Given the description of an element on the screen output the (x, y) to click on. 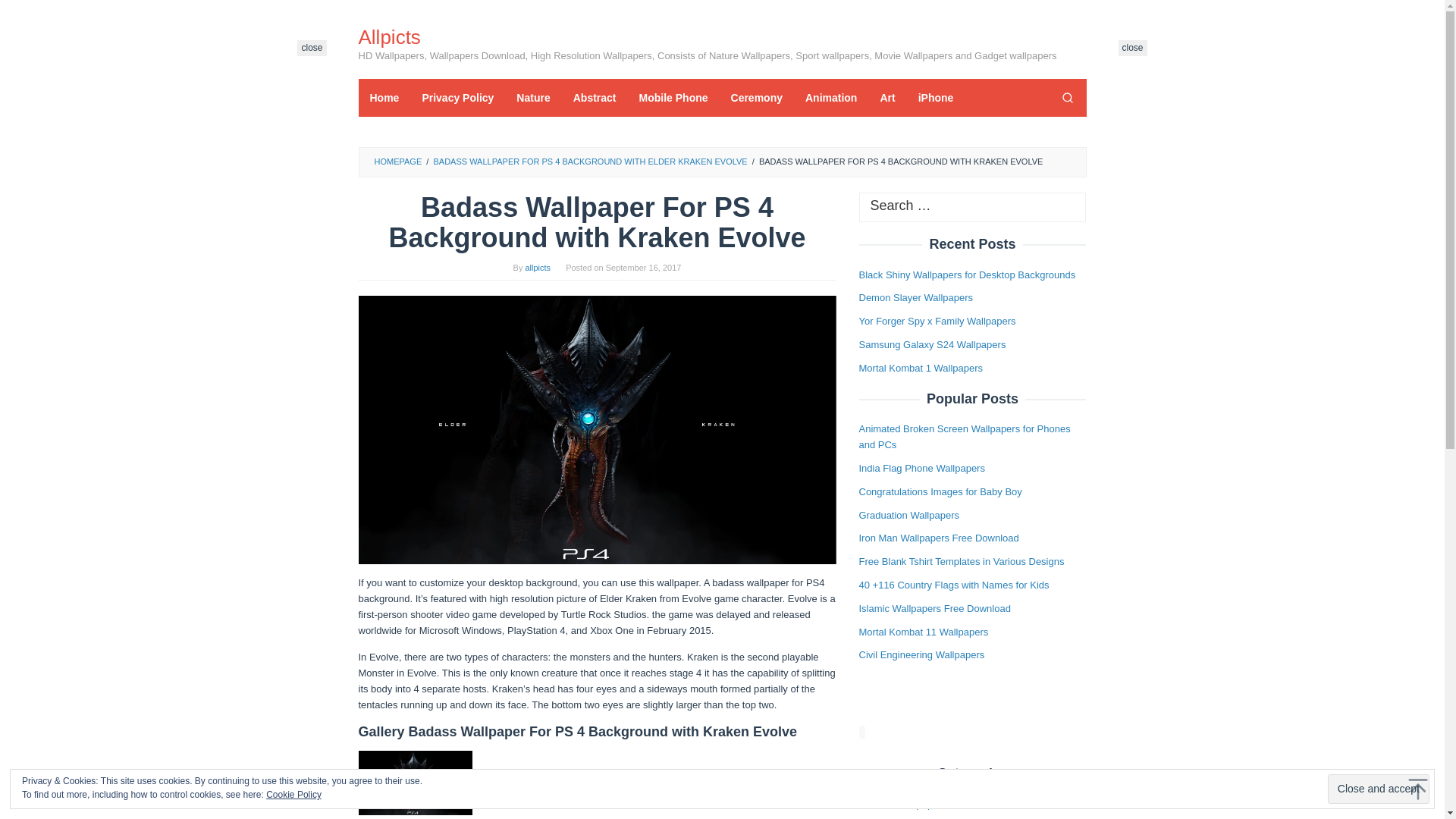
Mortal Kombat 1 Wallpapers (920, 367)
Islamic Wallpapers Free Download (934, 608)
allpicts (537, 266)
Congratulations Images for Baby Boy (940, 491)
Yor Forger Spy x Family Wallpapers (936, 320)
Close and accept (1378, 788)
Black Shiny Wallpapers for Desktop Backgrounds (967, 274)
close (1132, 48)
Animated Broken Screen Wallpapers for Phones and PCs (964, 436)
